Given the description of an element on the screen output the (x, y) to click on. 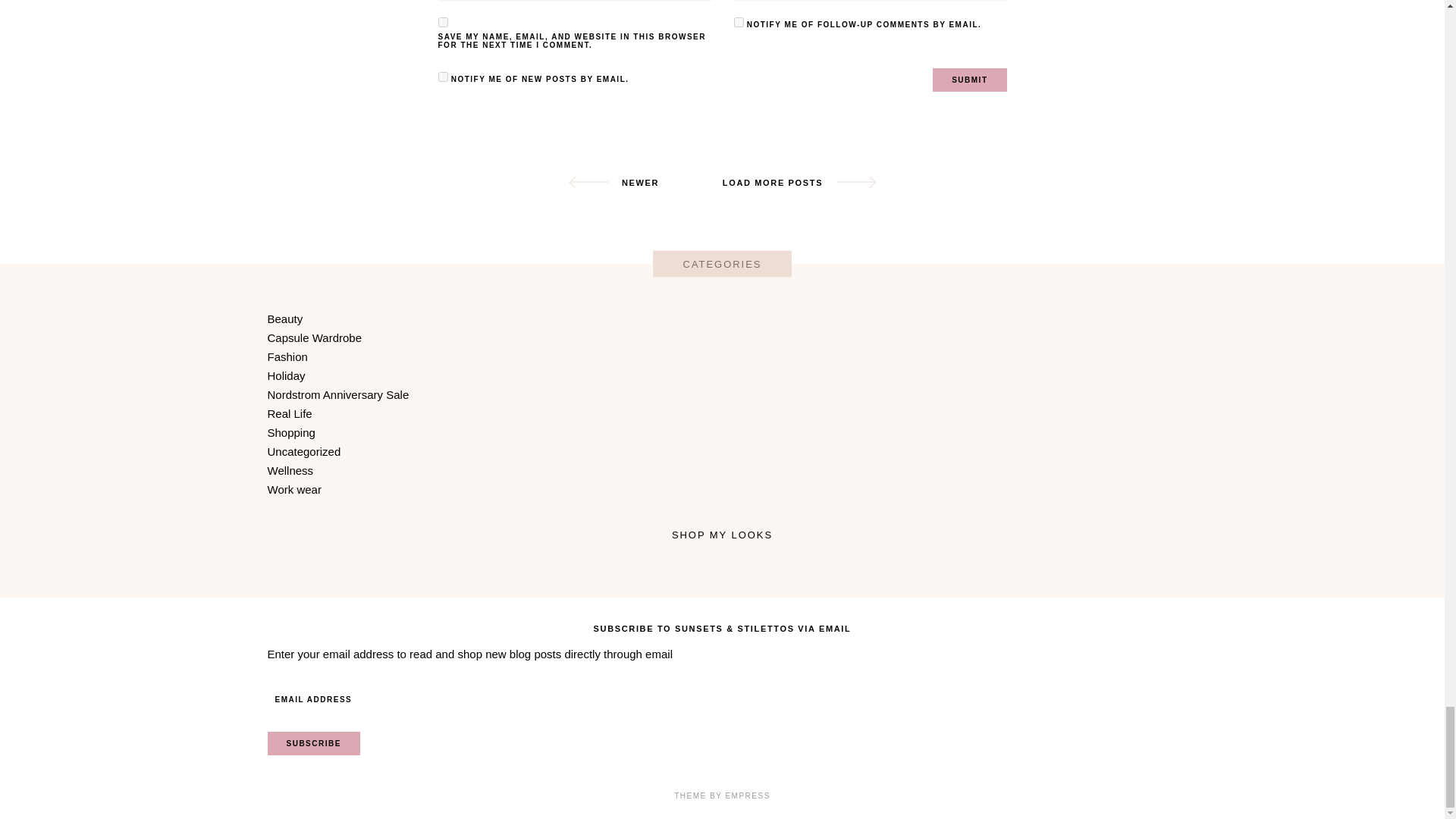
Submit (969, 79)
subscribe (443, 76)
subscribe (738, 22)
yes (443, 22)
